Given the description of an element on the screen output the (x, y) to click on. 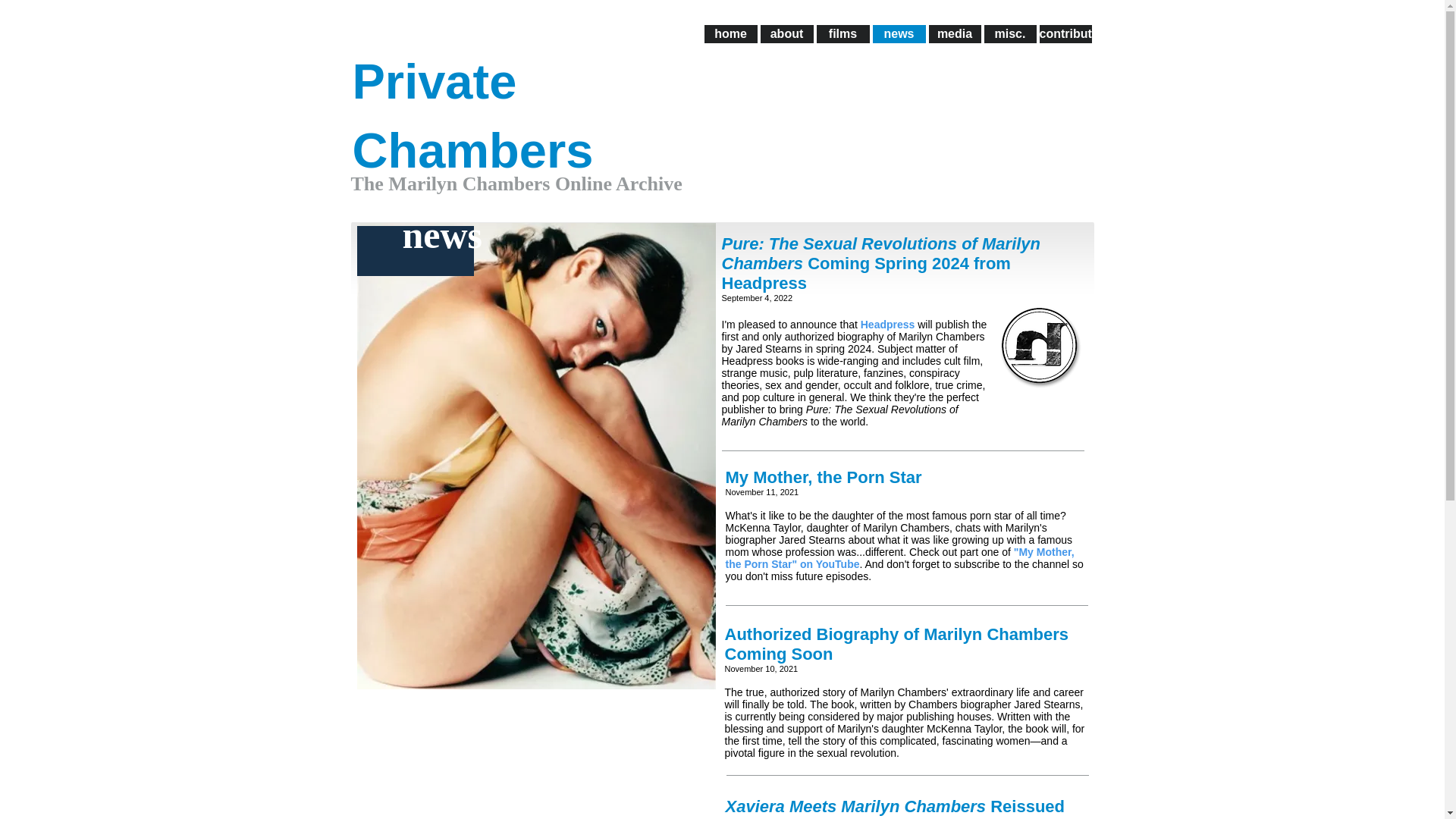
news (898, 34)
Headpress (887, 324)
contribute (1064, 34)
about (786, 34)
home (730, 34)
Embedded Content (992, 73)
"My Mother, the Porn Star" on YouTube (899, 558)
films (842, 34)
Private Chambers (472, 116)
Headpress Books (1038, 345)
